Given the description of an element on the screen output the (x, y) to click on. 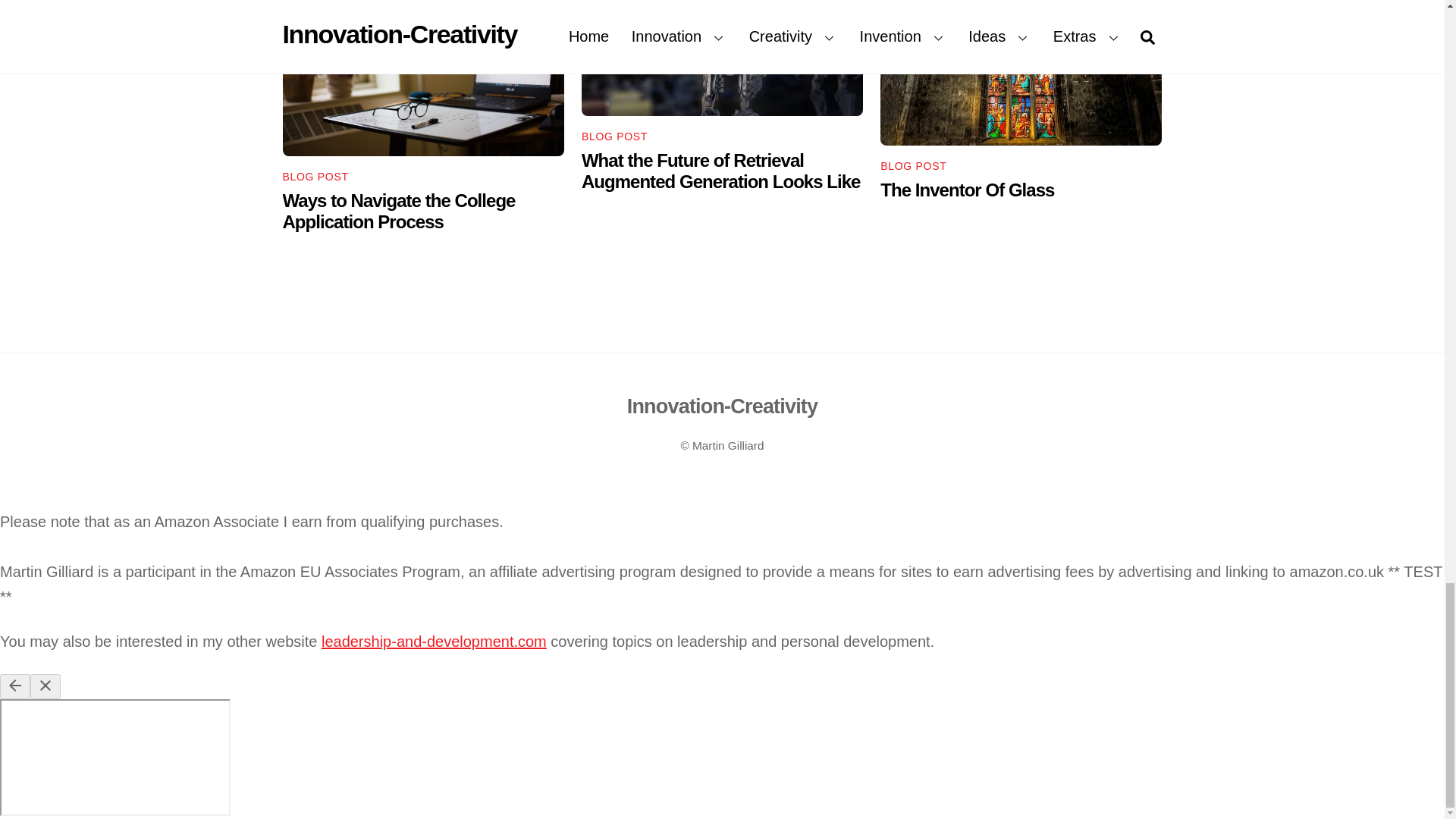
Innovation-Creativity (722, 405)
